Given the description of an element on the screen output the (x, y) to click on. 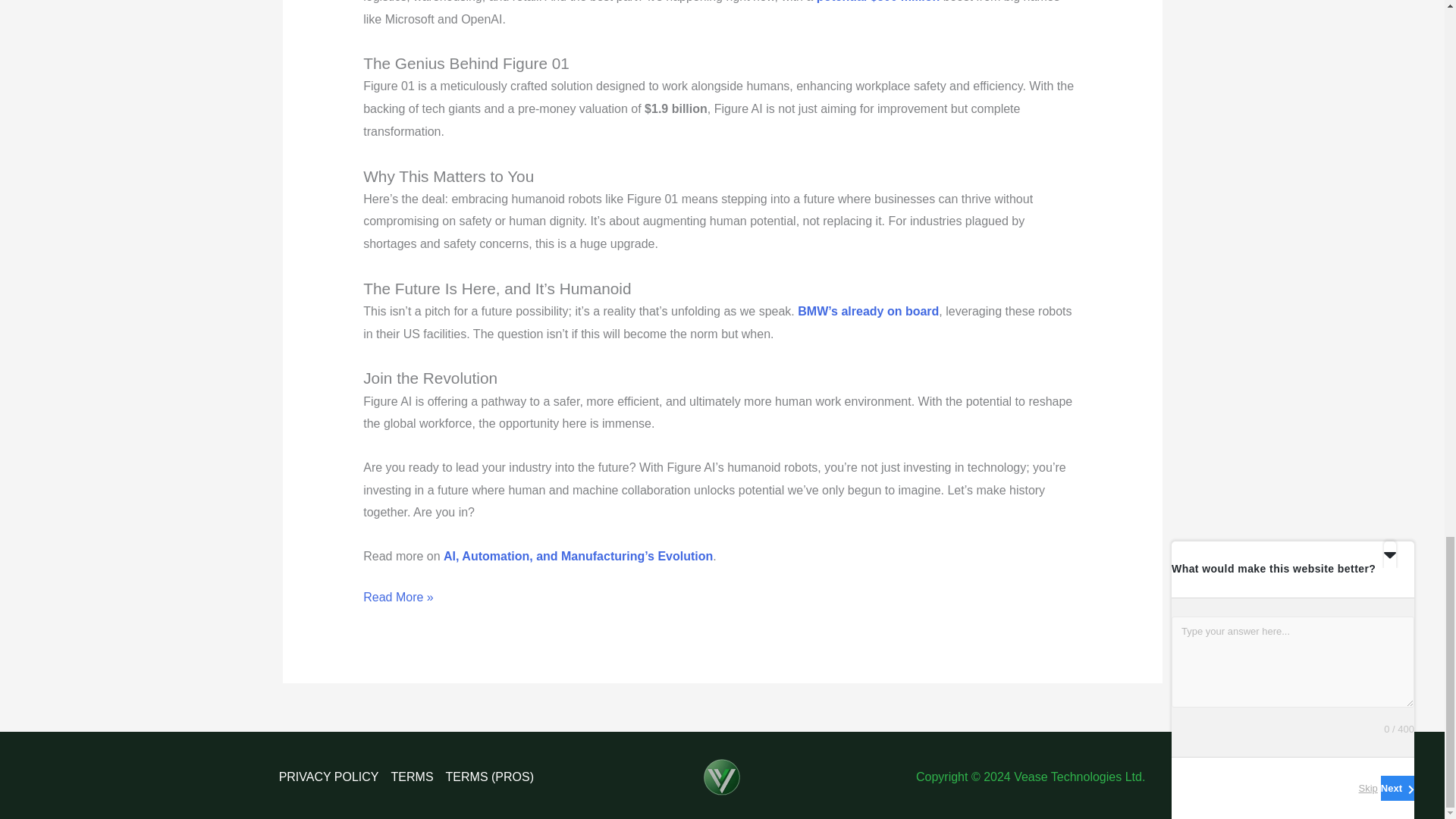
PRIVACY POLICY (332, 776)
TERMS (412, 776)
